Given the description of an element on the screen output the (x, y) to click on. 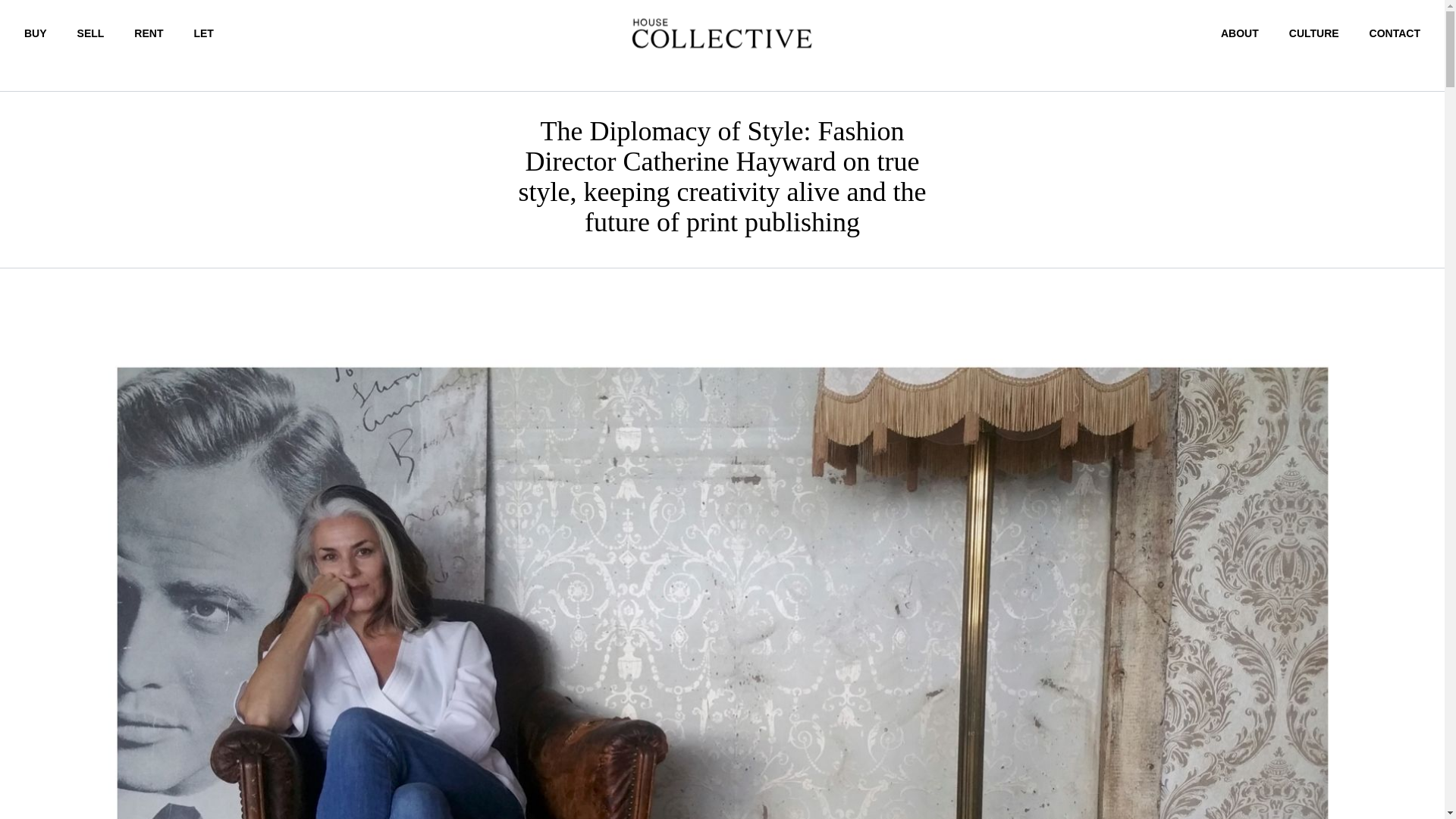
SELL (90, 33)
CONTACT (1395, 32)
ABOUT (1240, 32)
RENT (148, 33)
CULTURE (1313, 32)
LET (202, 33)
BUY (35, 33)
